Given the description of an element on the screen output the (x, y) to click on. 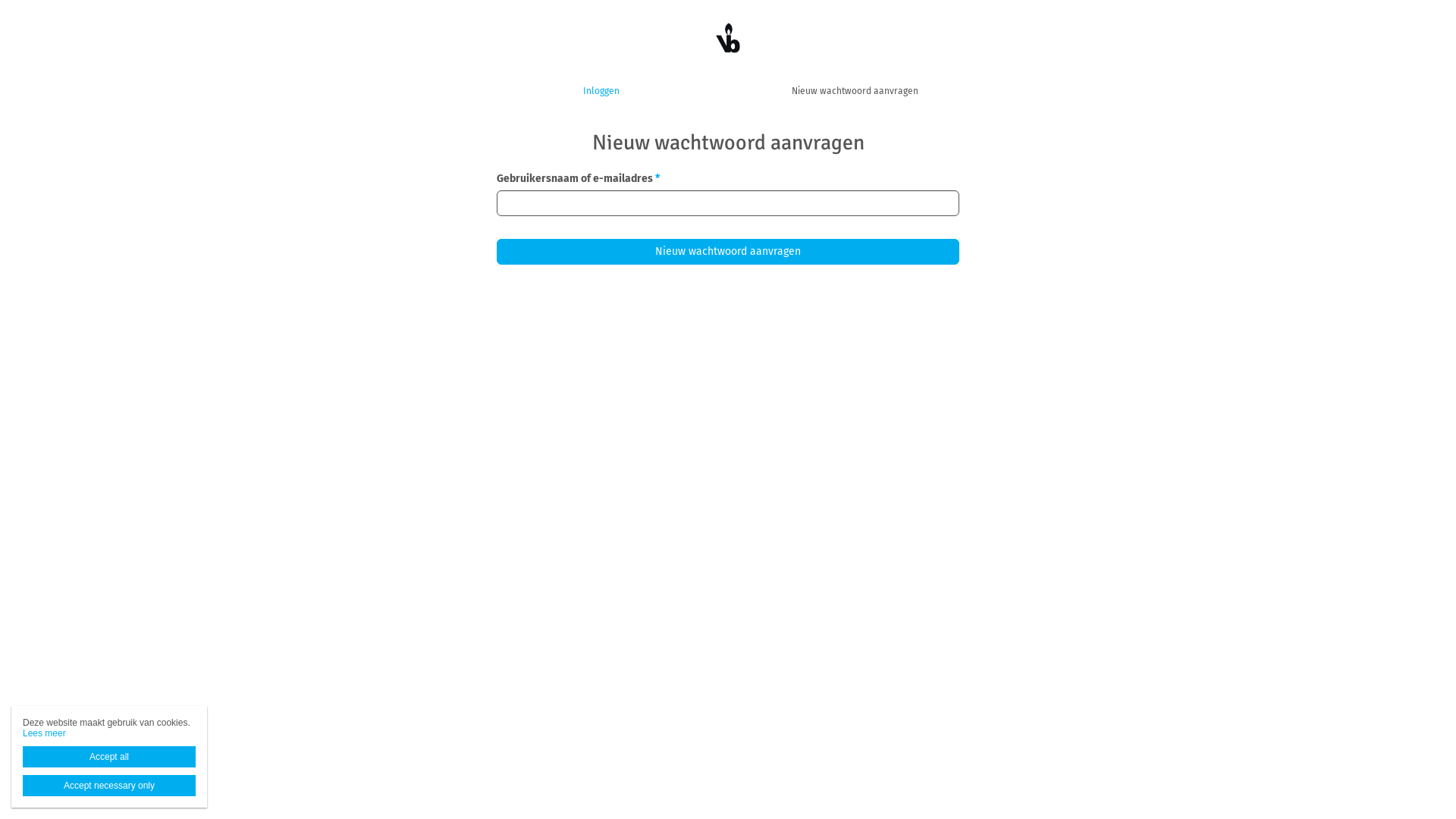
Accept all Element type: text (108, 756)
Overslaan en naar de inhoud gaan Element type: text (81, 0)
Nieuw wachtwoord aanvragen Element type: text (855, 90)
Nieuw wachtwoord aanvragen Element type: text (727, 251)
Accept necessary only Element type: text (108, 785)
Home Element type: hover (727, 37)
Lees meer Element type: text (43, 733)
Inloggen Element type: text (600, 90)
Home Element type: hover (727, 37)
